Given the description of an element on the screen output the (x, y) to click on. 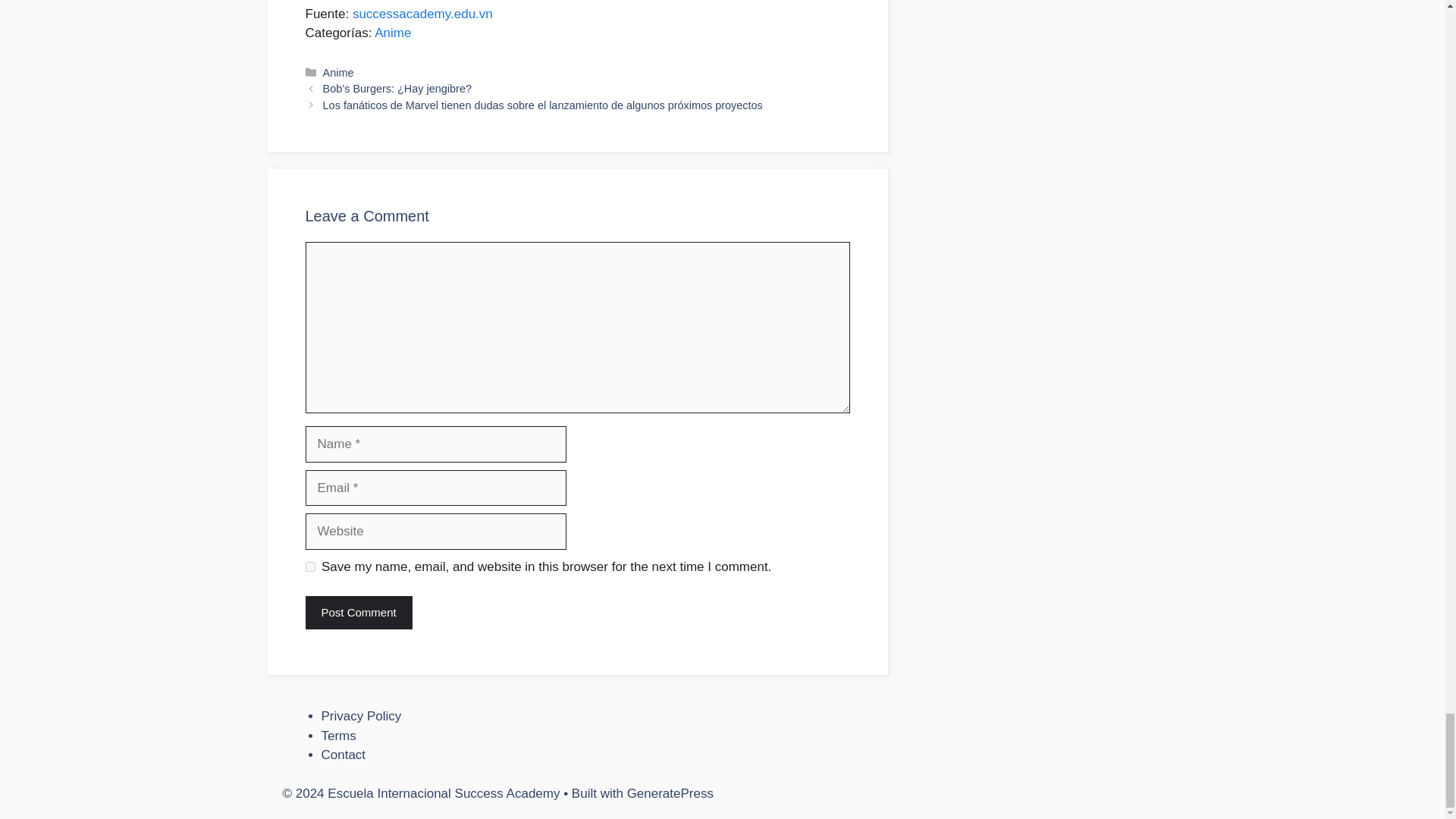
Anime (392, 32)
yes (309, 566)
Contact (343, 754)
Terms (338, 735)
successacademy.edu.vn (422, 13)
Anime (338, 72)
Post Comment (358, 612)
Post Comment (358, 612)
Privacy Policy (361, 716)
GeneratePress (670, 793)
